Given the description of an element on the screen output the (x, y) to click on. 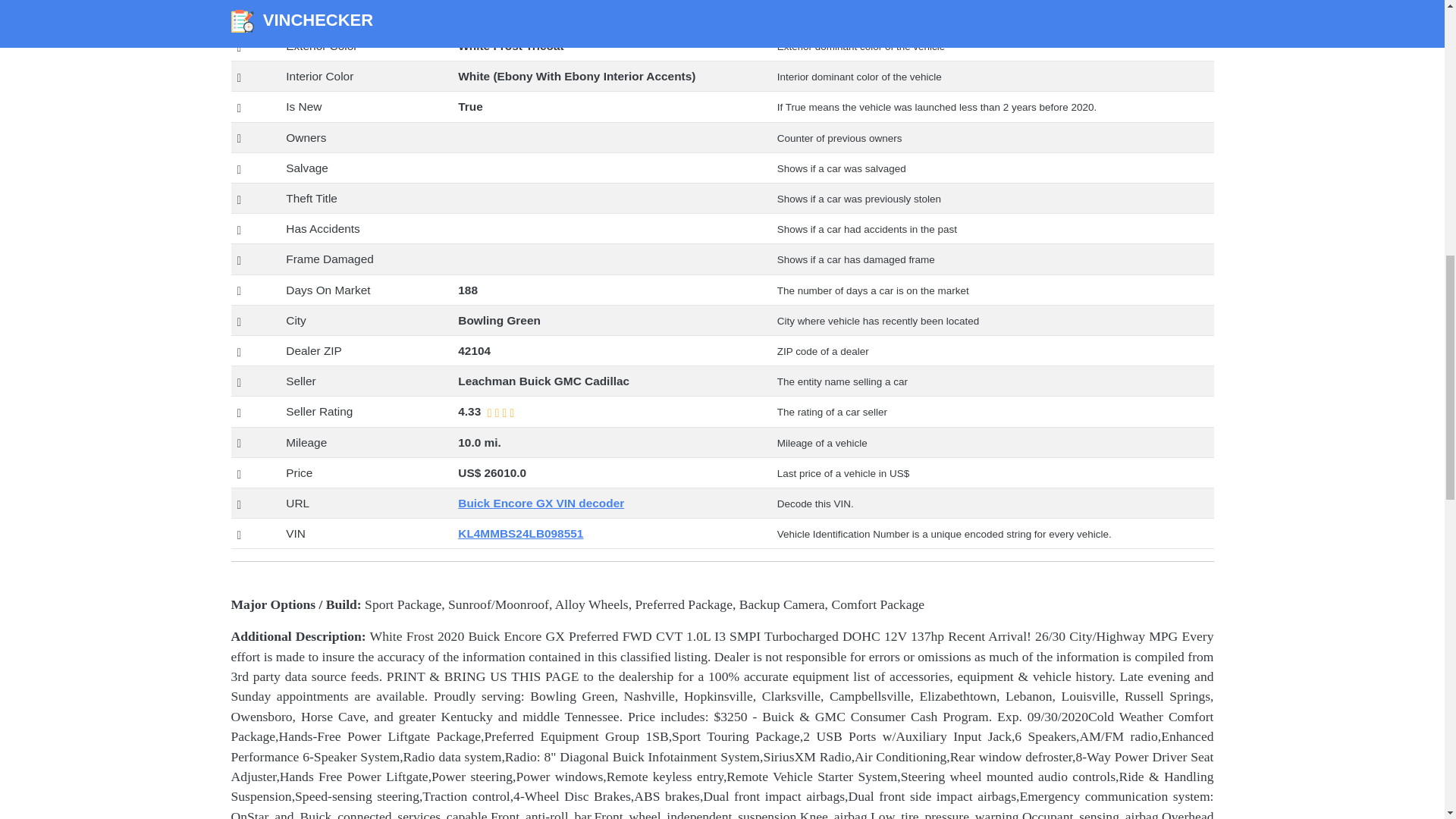
Buick Encore GX VIN decoder (541, 502)
Buick Encore GX VIN decoder (541, 502)
Get Report for KL4MMBS24LB098551 (520, 533)
KL4MMBS24LB098551 (520, 533)
